Given the description of an element on the screen output the (x, y) to click on. 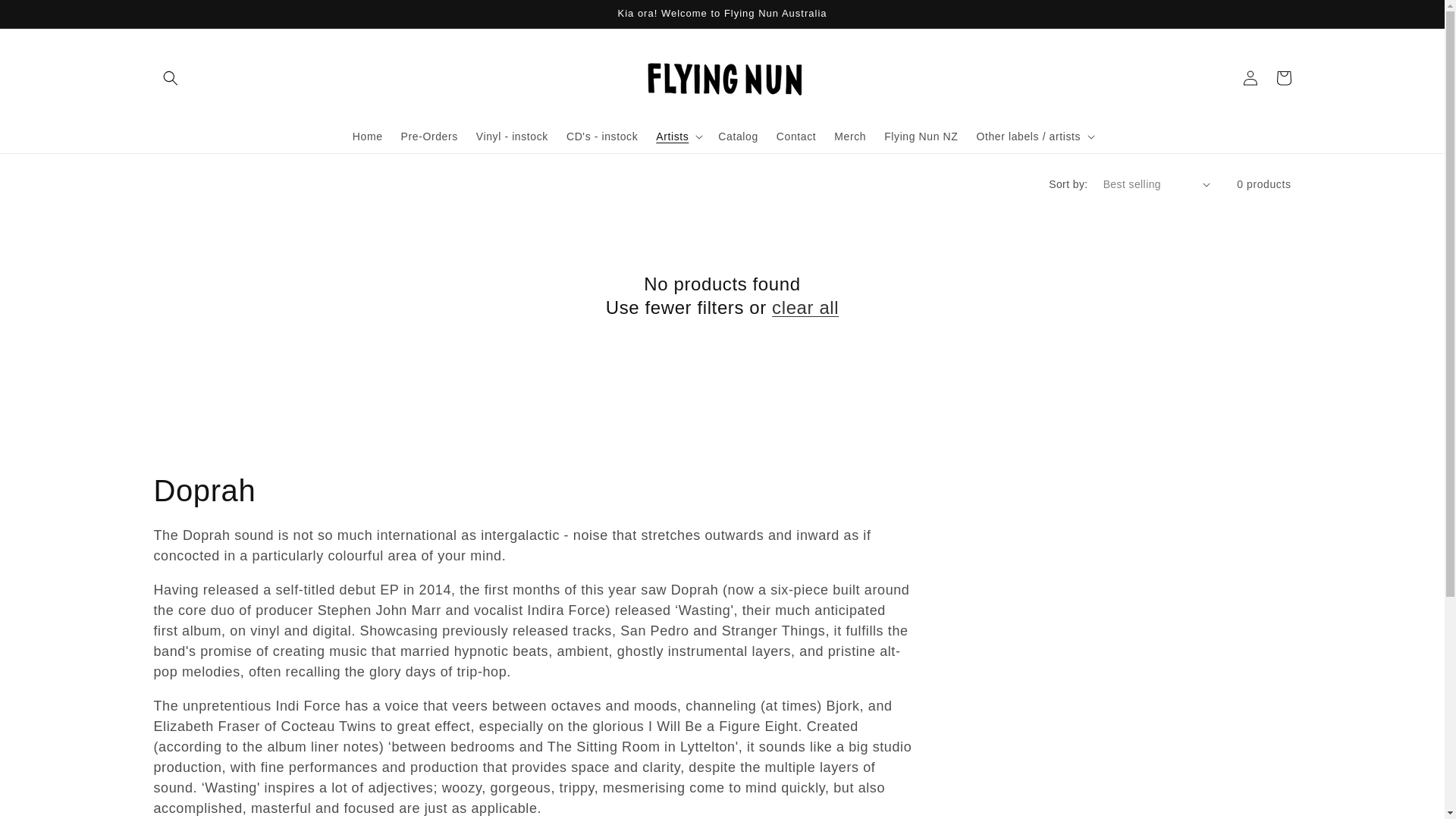
Skip to content (45, 16)
Home (367, 136)
